Given the description of an element on the screen output the (x, y) to click on. 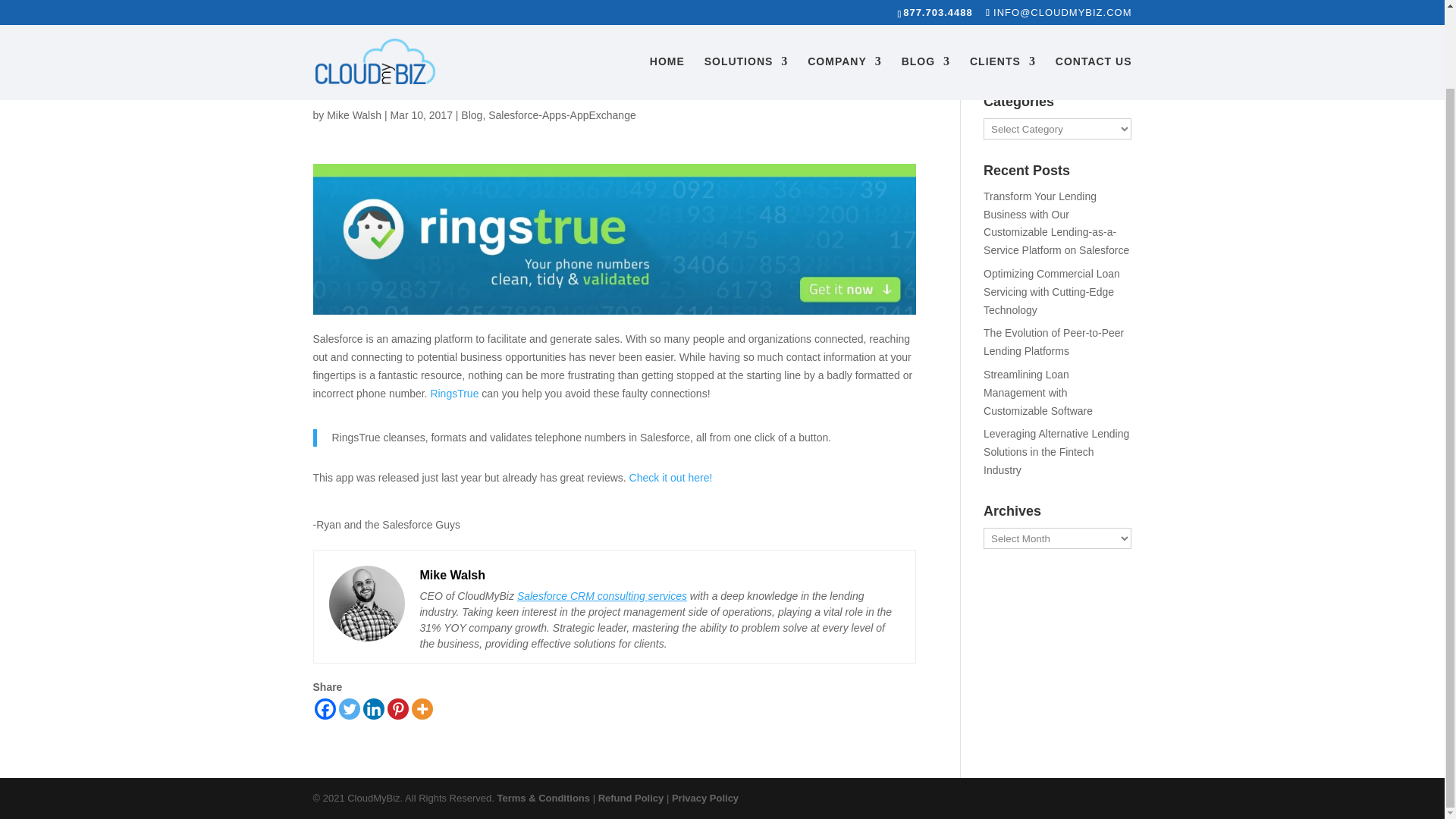
Facebook (324, 708)
BLOG (925, 6)
More (421, 708)
Salesforce CRM consulting services (601, 595)
Posts by Mike Walsh (353, 114)
CLIENTS (1002, 6)
Search (1106, 55)
SOLUTIONS (746, 6)
COMPANY (845, 6)
Twitter (348, 708)
Search (1106, 55)
RingsTrue (454, 393)
Mike Walsh (353, 114)
Linkedin (373, 708)
